Given the description of an element on the screen output the (x, y) to click on. 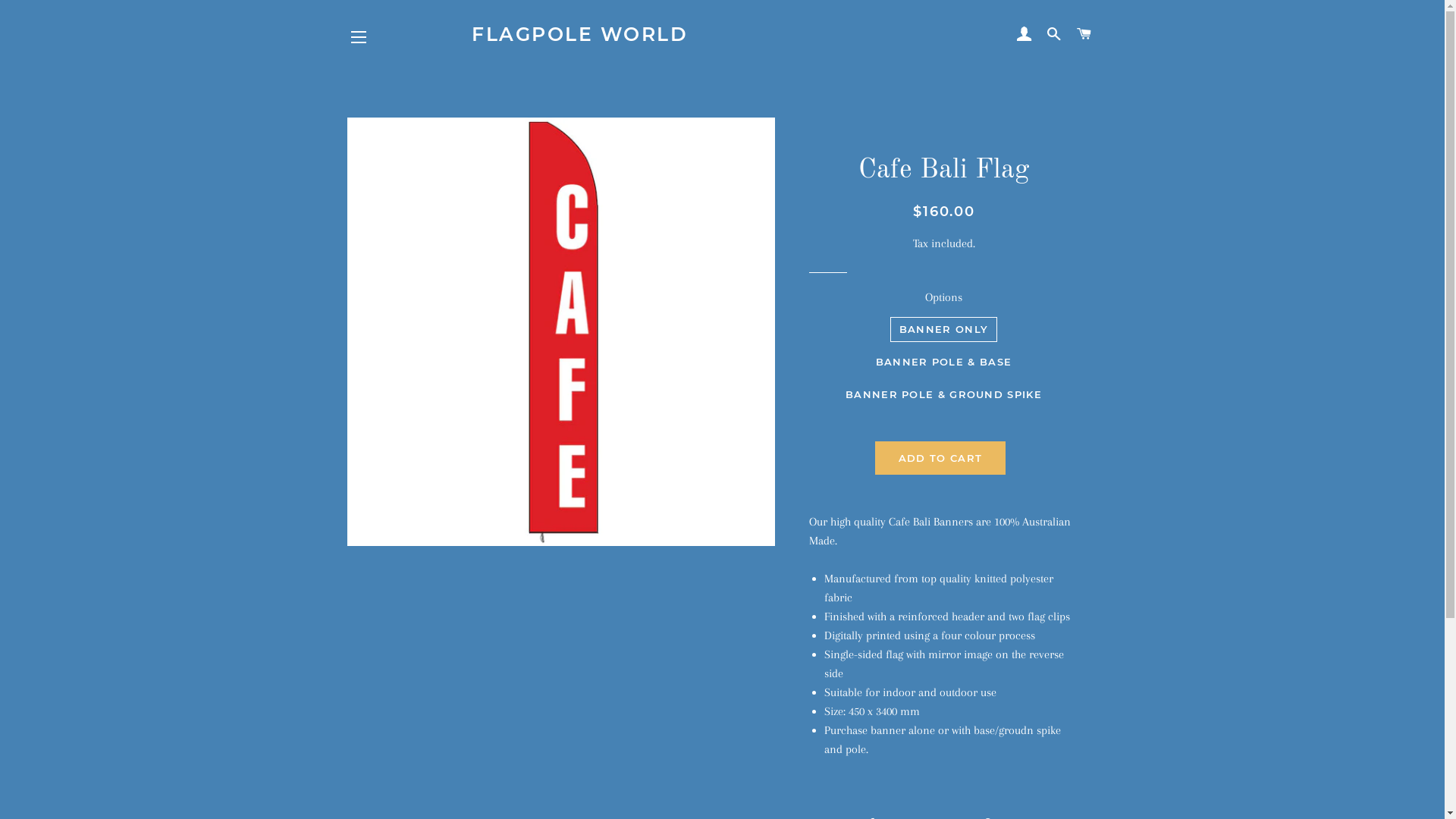
CART Element type: text (1083, 33)
FLAGPOLE WORLD Element type: text (721, 34)
SITE NAVIGATION Element type: text (358, 37)
ADD TO CART Element type: text (940, 457)
LOG IN Element type: text (1023, 33)
SEARCH Element type: text (1054, 33)
